Given the description of an element on the screen output the (x, y) to click on. 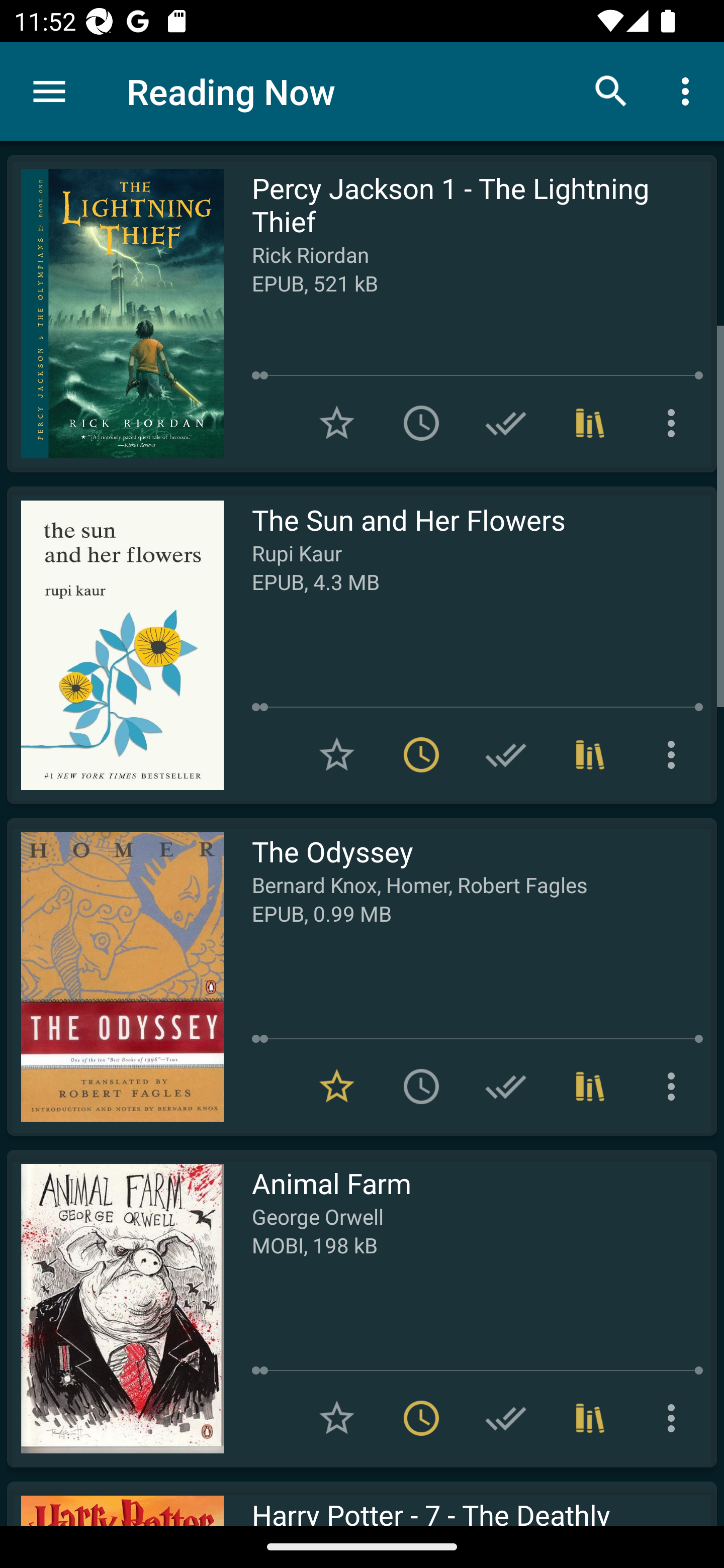
Menu (49, 91)
Search books & documents (611, 90)
More options (688, 90)
Read Percy Jackson 1 - The Lightning Thief (115, 313)
Add to Favorites (336, 423)
Add to To read (421, 423)
Add to Have read (505, 423)
Collections (1) (590, 423)
More options (674, 423)
Read The Sun and Her Flowers (115, 645)
Add to Favorites (336, 753)
Remove from To read (421, 753)
Add to Have read (505, 753)
Collections (1) (590, 753)
More options (674, 753)
Read The Odyssey (115, 976)
Remove from Favorites (336, 1086)
Add to To read (421, 1086)
Add to Have read (505, 1086)
Collections (1) (590, 1086)
More options (674, 1086)
Read Animal Farm (115, 1308)
Add to Favorites (336, 1417)
Remove from To read (421, 1417)
Add to Have read (505, 1417)
Collections (1) (590, 1417)
More options (674, 1417)
